Given the description of an element on the screen output the (x, y) to click on. 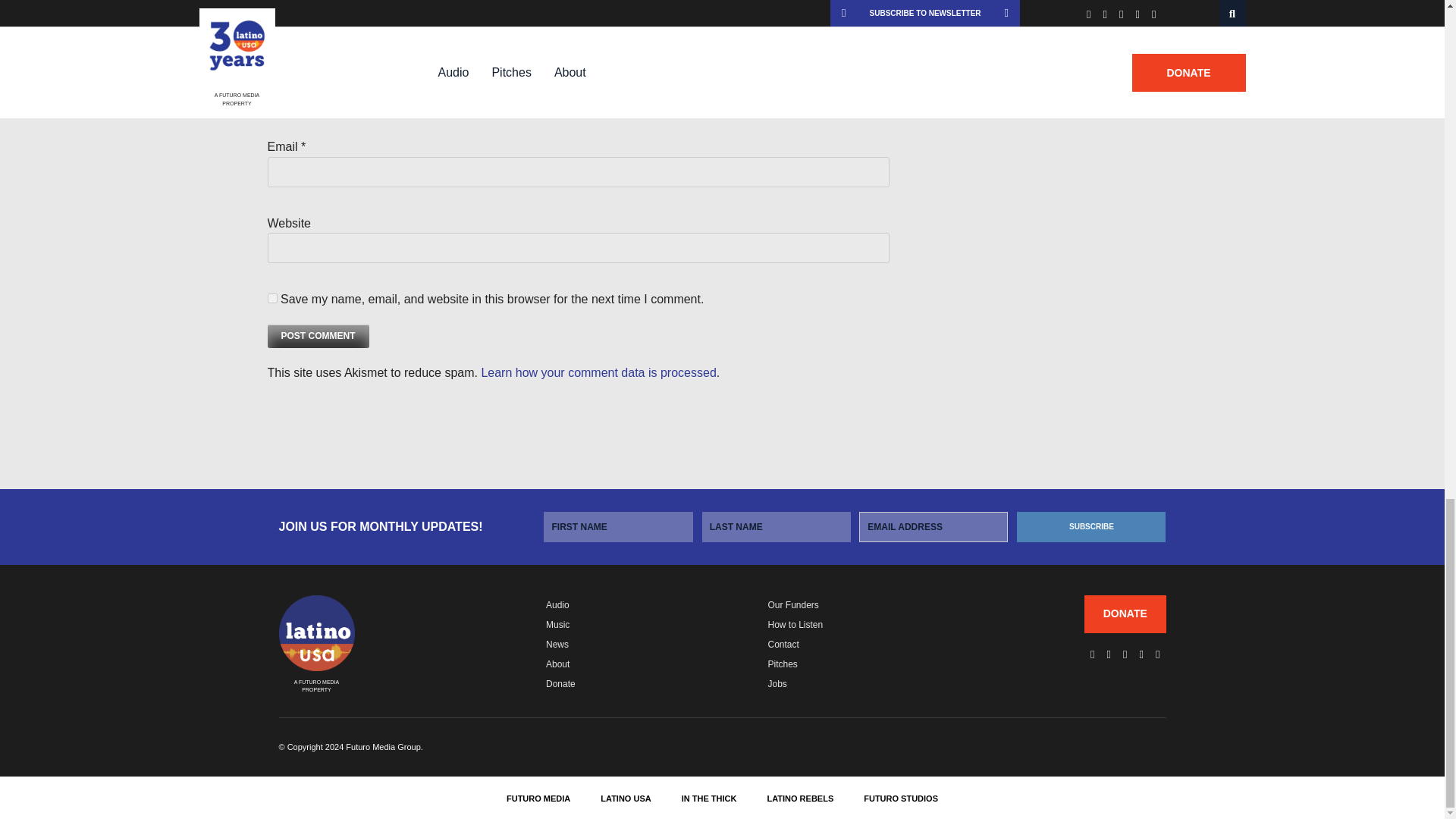
Post Comment (317, 336)
Audio (557, 604)
yes (271, 298)
Subscribe (1091, 526)
Learn how your comment data is processed (598, 372)
Music (557, 624)
Post Comment (317, 336)
Subscribe (1091, 526)
